Given the description of an element on the screen output the (x, y) to click on. 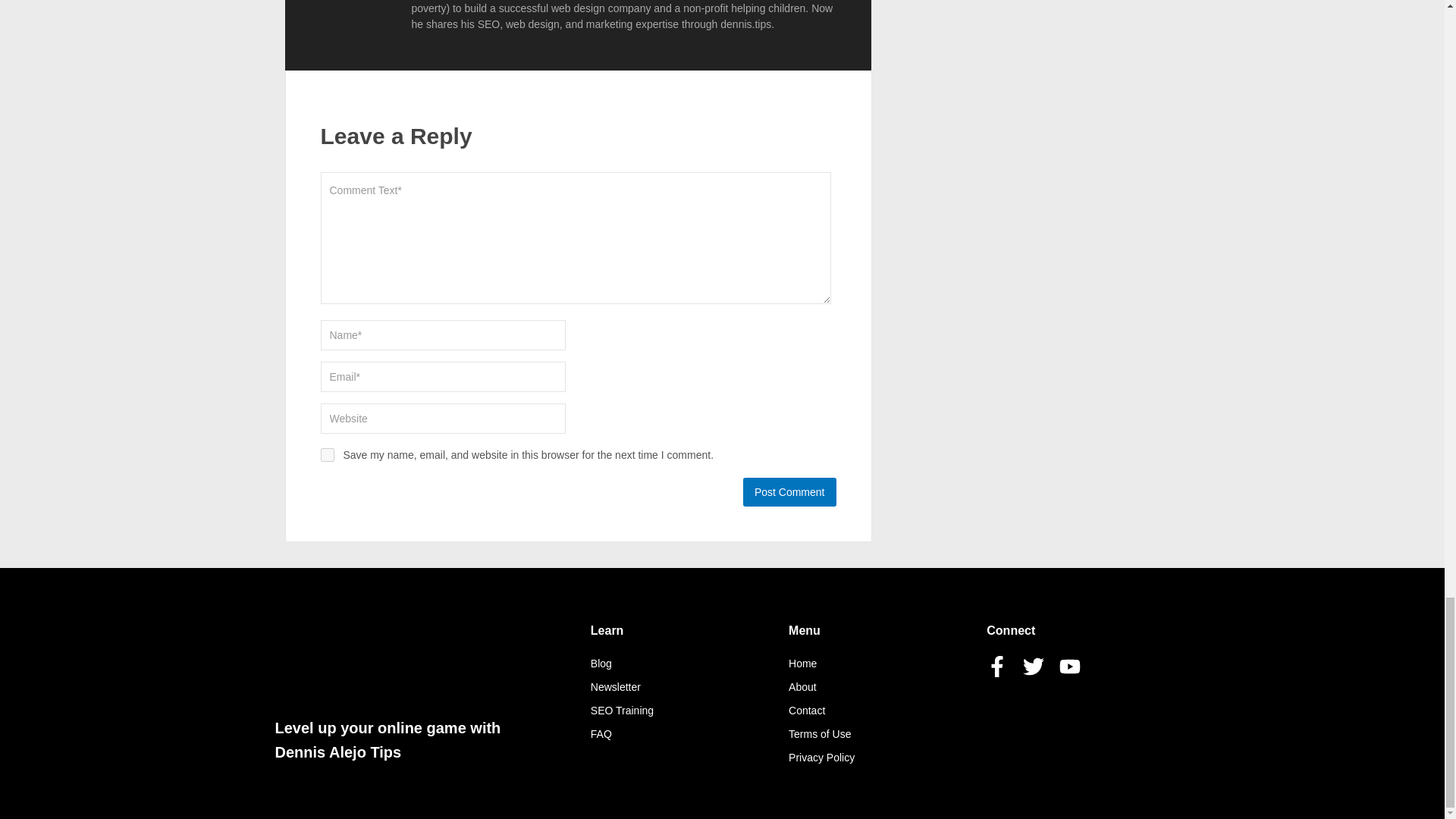
yes (326, 454)
Post Comment (788, 491)
